Given the description of an element on the screen output the (x, y) to click on. 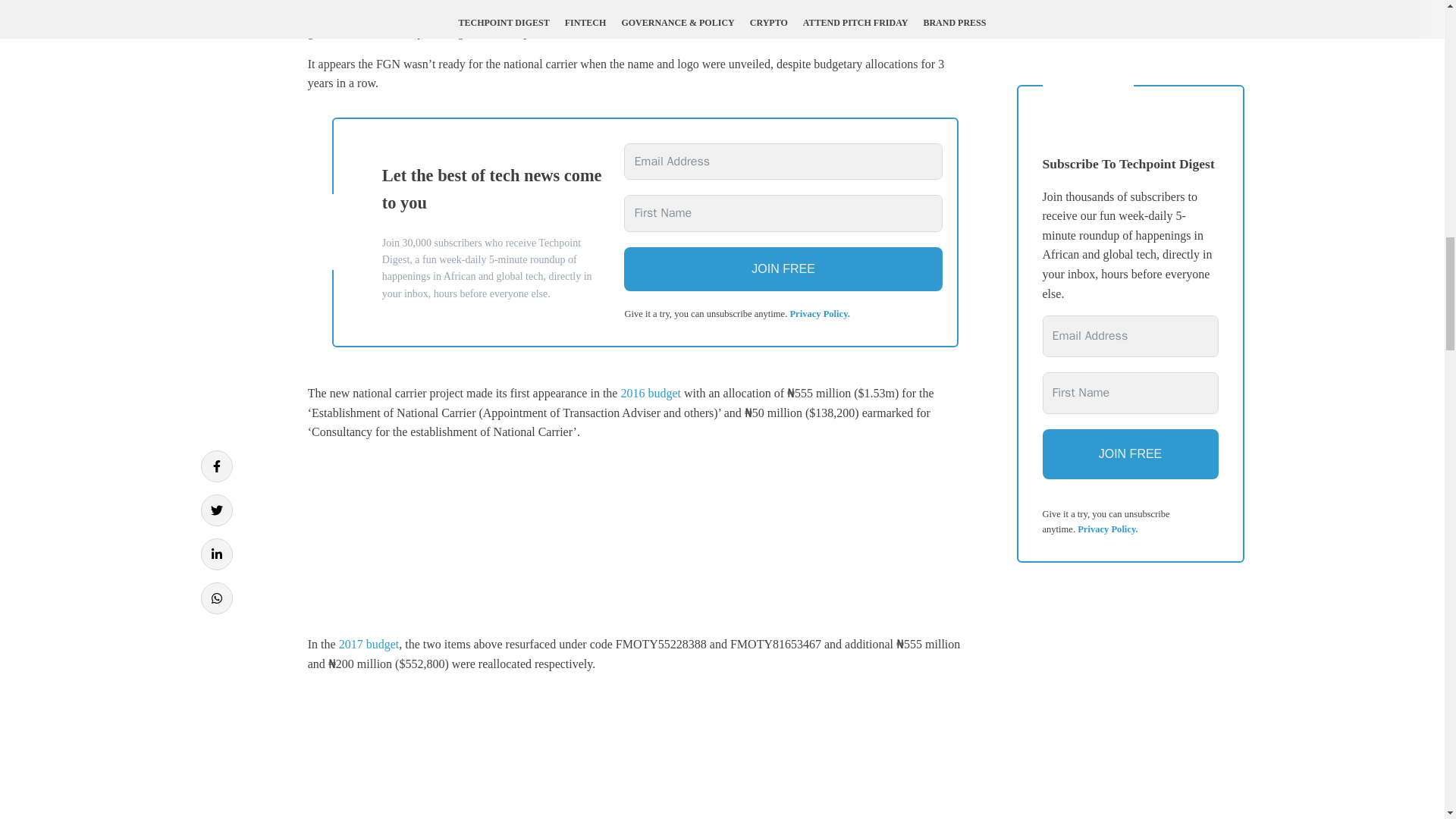
2016 budget (650, 392)
Privacy Policy. (818, 313)
2017 budget (368, 644)
JOIN FREE (783, 269)
